Given the description of an element on the screen output the (x, y) to click on. 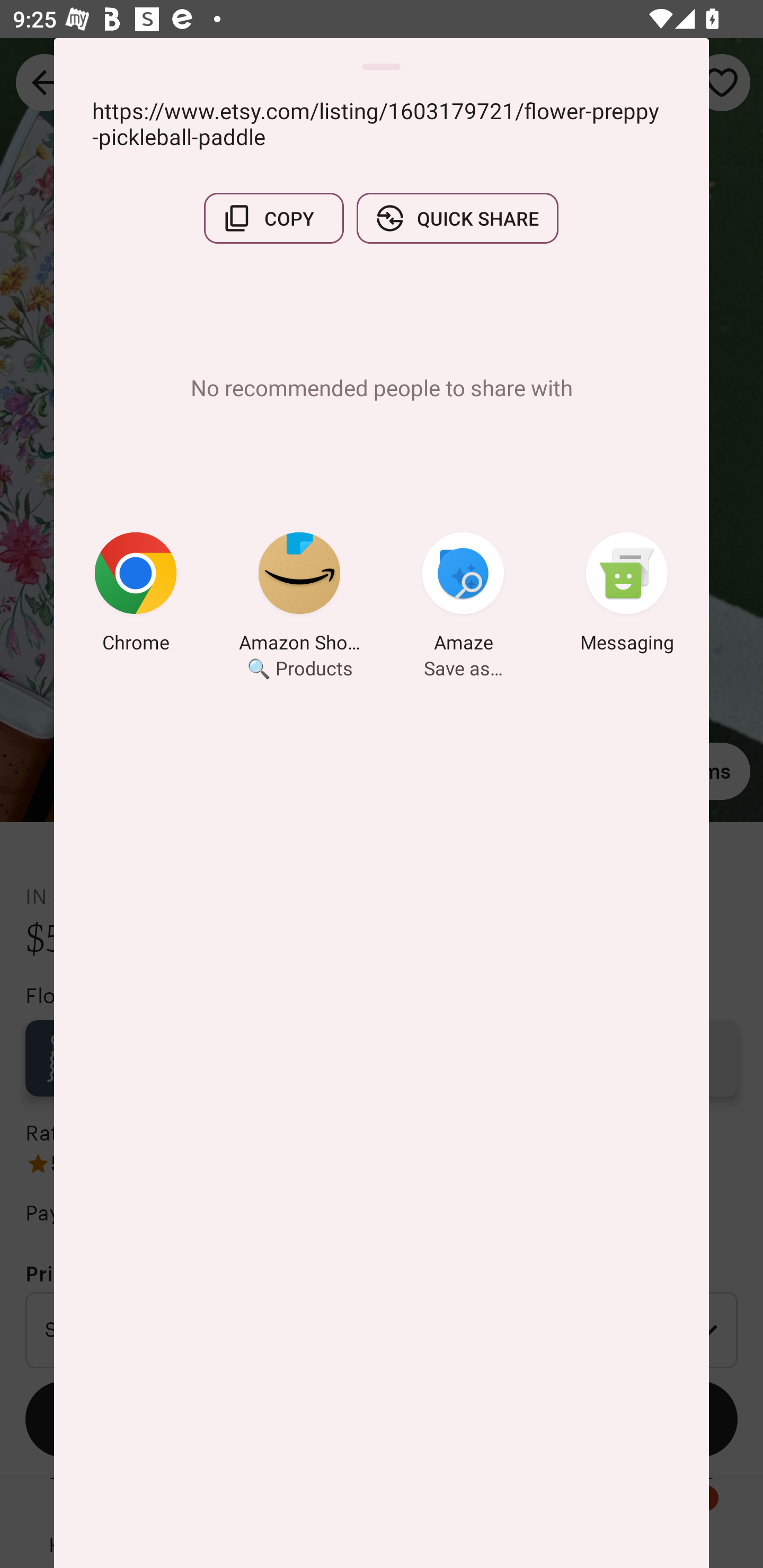
COPY (273, 218)
QUICK SHARE (457, 218)
Chrome (135, 594)
Amazon Shopping 🔍 Products (299, 594)
Amaze Save as… (463, 594)
Messaging (626, 594)
